Given the description of an element on the screen output the (x, y) to click on. 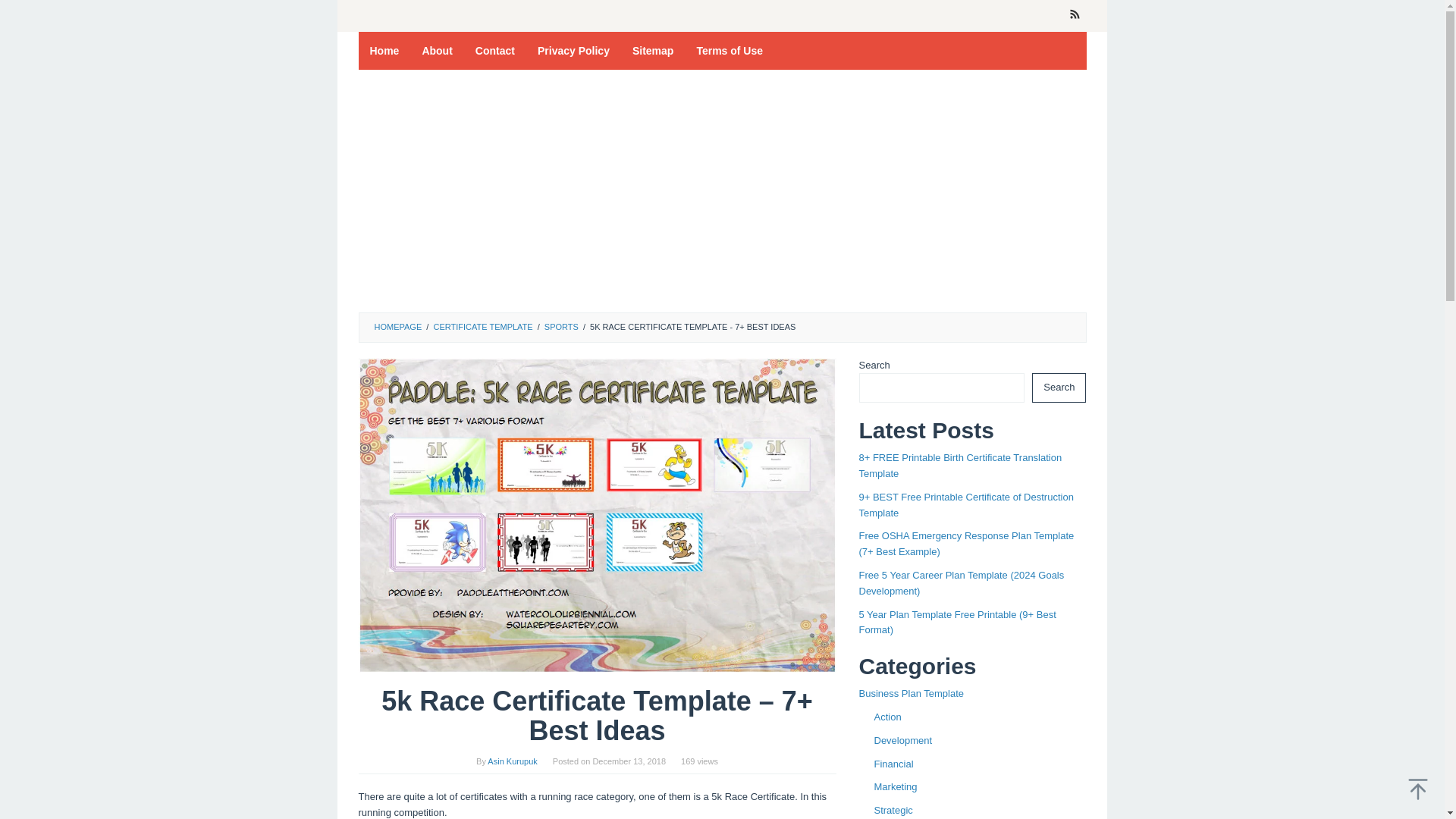
Privacy Policy (573, 50)
CERTIFICATE TEMPLATE (482, 326)
About (436, 50)
Terms of Use (729, 50)
Contact (494, 50)
Permalink to: Asin Kurupuk (512, 760)
Sitemap (652, 50)
HOMEPAGE (398, 326)
RSS (1074, 15)
Asin Kurupuk (512, 760)
SPORTS (561, 326)
Home (384, 50)
